Given the description of an element on the screen output the (x, y) to click on. 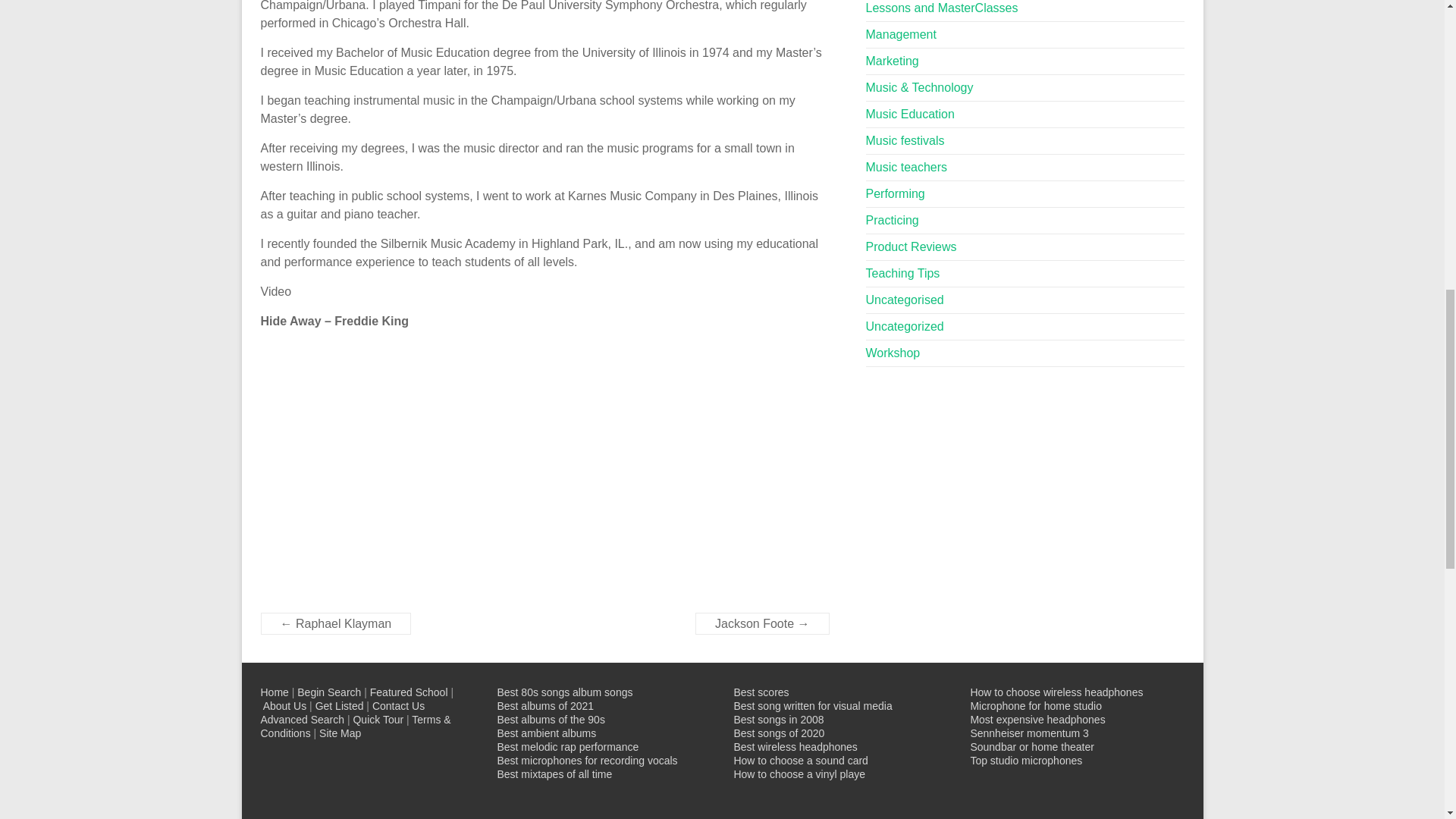
Music teachers (906, 166)
Performing (895, 193)
Practicing (892, 219)
Management (901, 33)
Marketing (892, 60)
Lessons and MasterClasses (941, 7)
Music festivals (905, 140)
Music Education (910, 113)
